Given the description of an element on the screen output the (x, y) to click on. 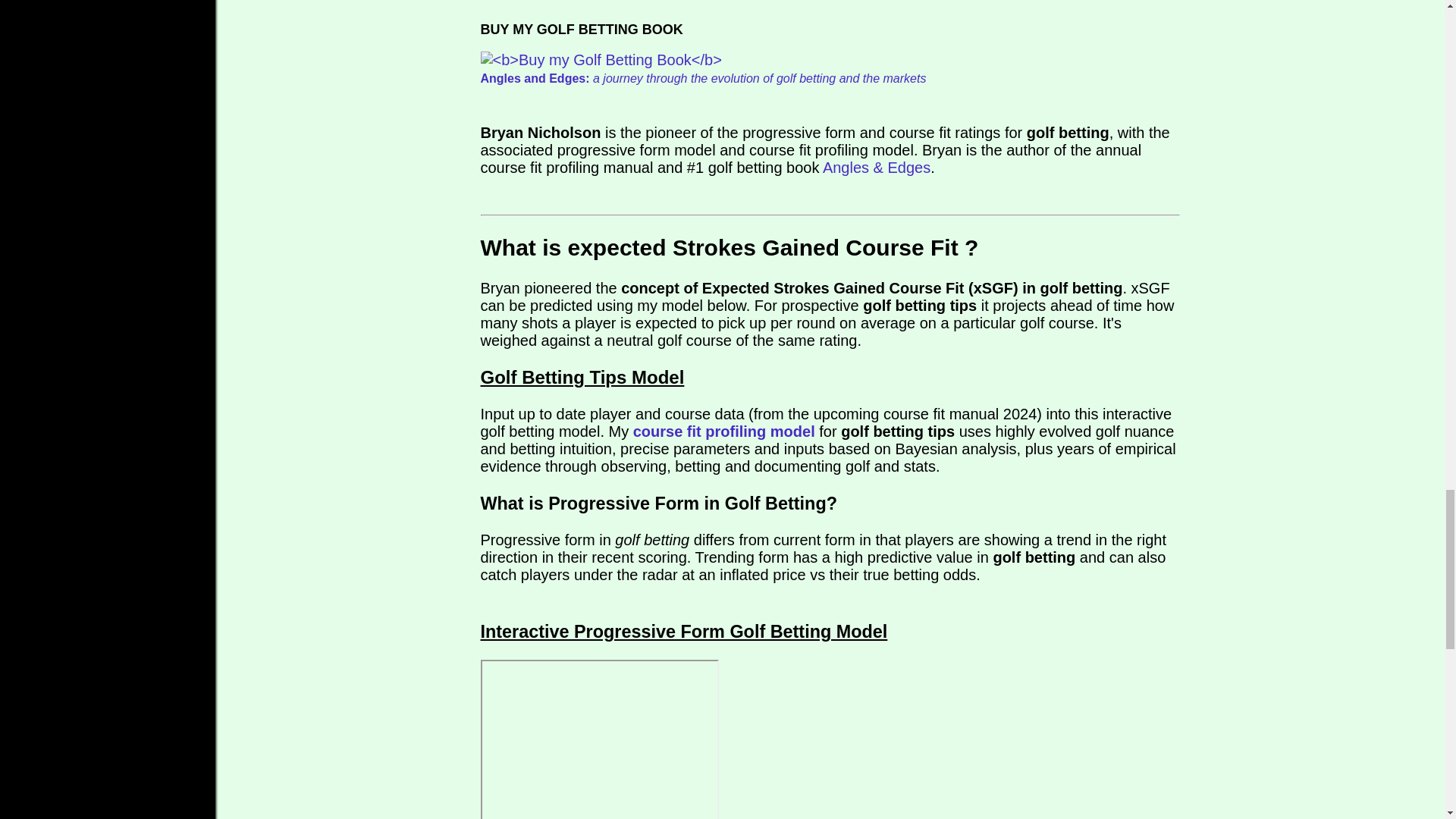
Angles and Edges: (534, 78)
course fit profiling model (724, 431)
